Given the description of an element on the screen output the (x, y) to click on. 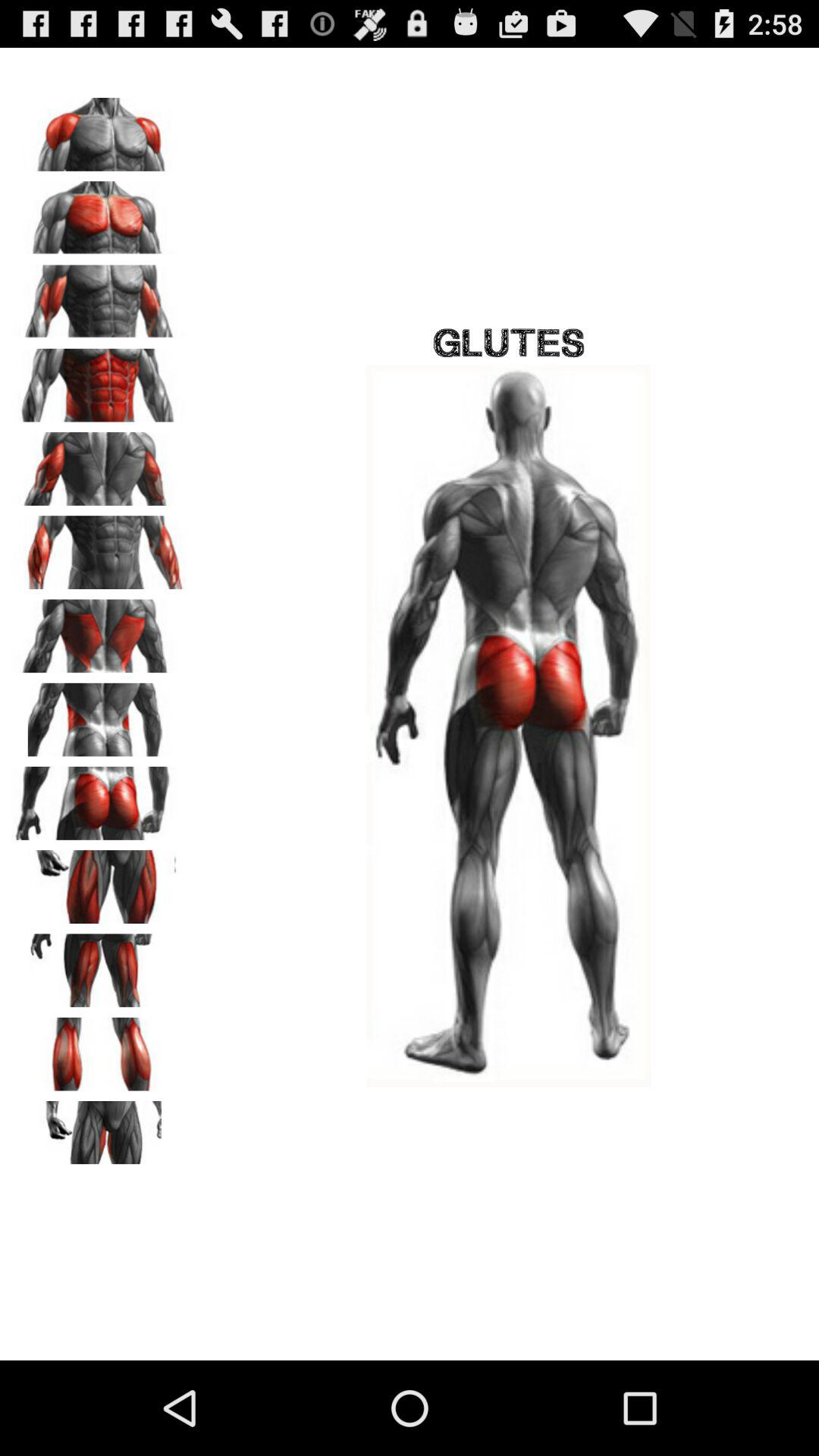
body section selection for workout option (99, 798)
